Given the description of an element on the screen output the (x, y) to click on. 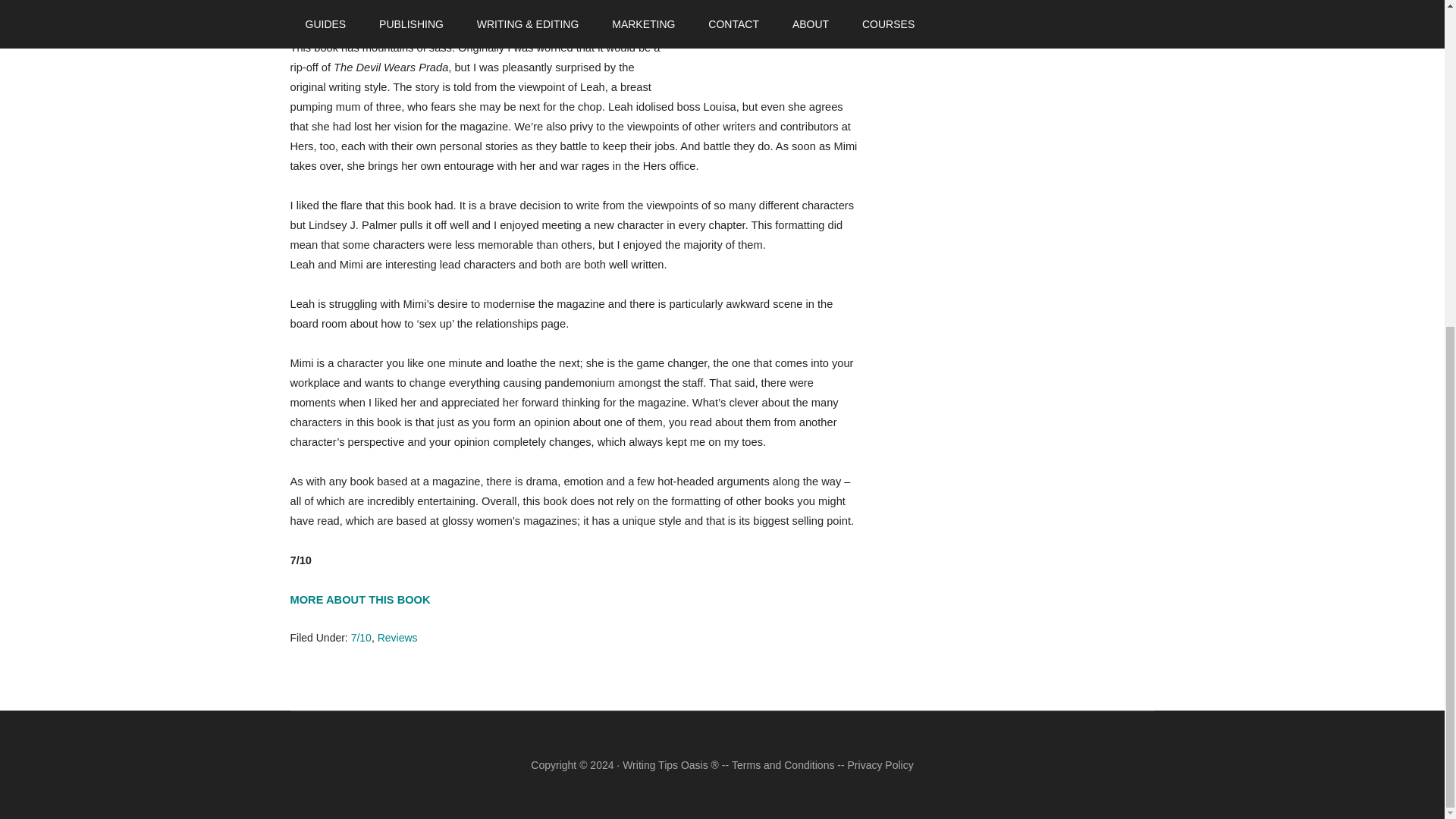
Reviews (397, 637)
Privacy Policy (880, 765)
Pretty in Ink by Lindsey J. Palmer (768, 37)
MORE ABOUT THIS BOOK (359, 599)
Terms and Conditions (783, 765)
Pretty in Ink by Lindsey J. Palmer (359, 599)
